Given the description of an element on the screen output the (x, y) to click on. 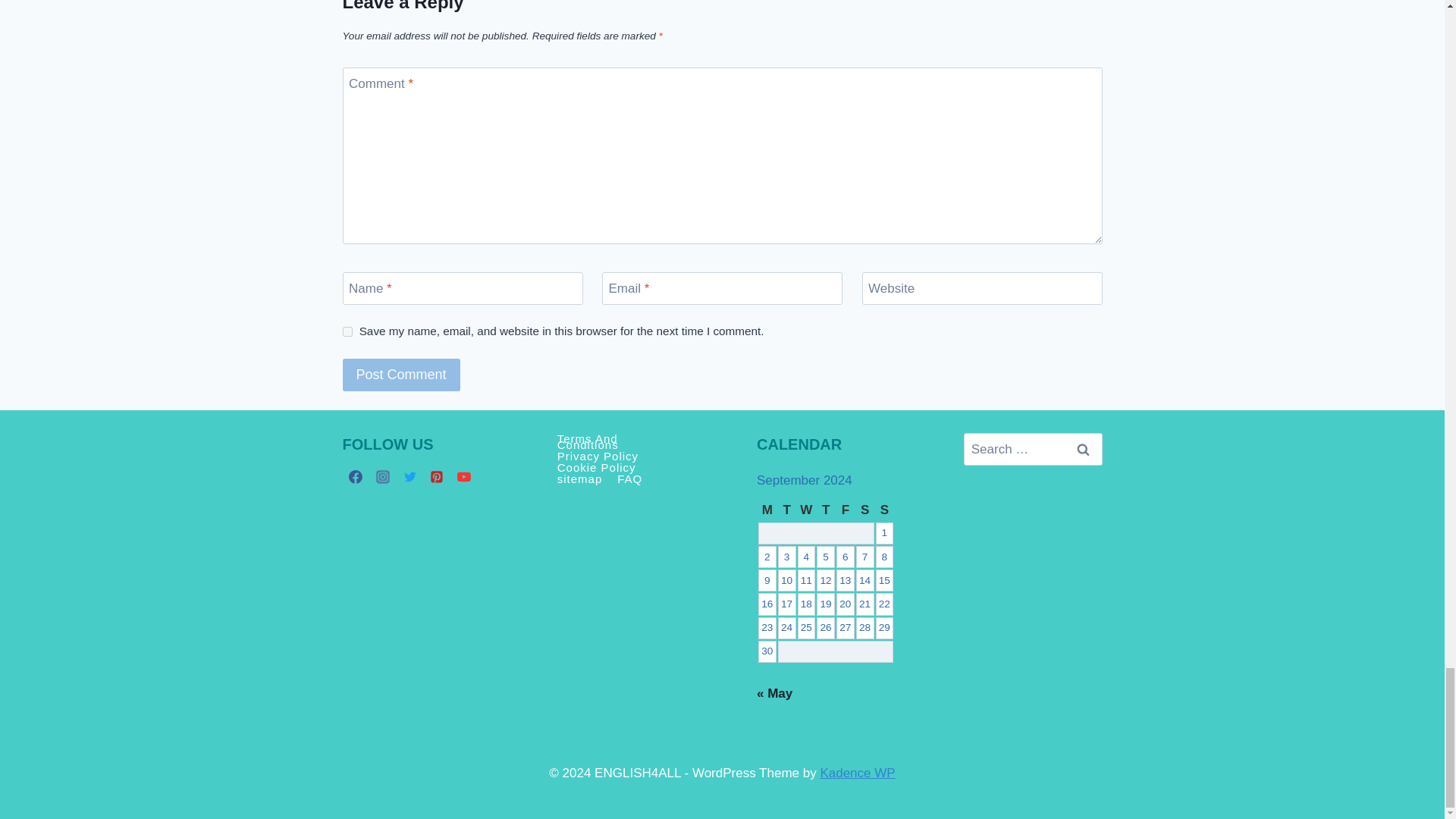
Post Comment (401, 374)
yes (347, 331)
Search (1083, 449)
Search (1083, 449)
